Given the description of an element on the screen output the (x, y) to click on. 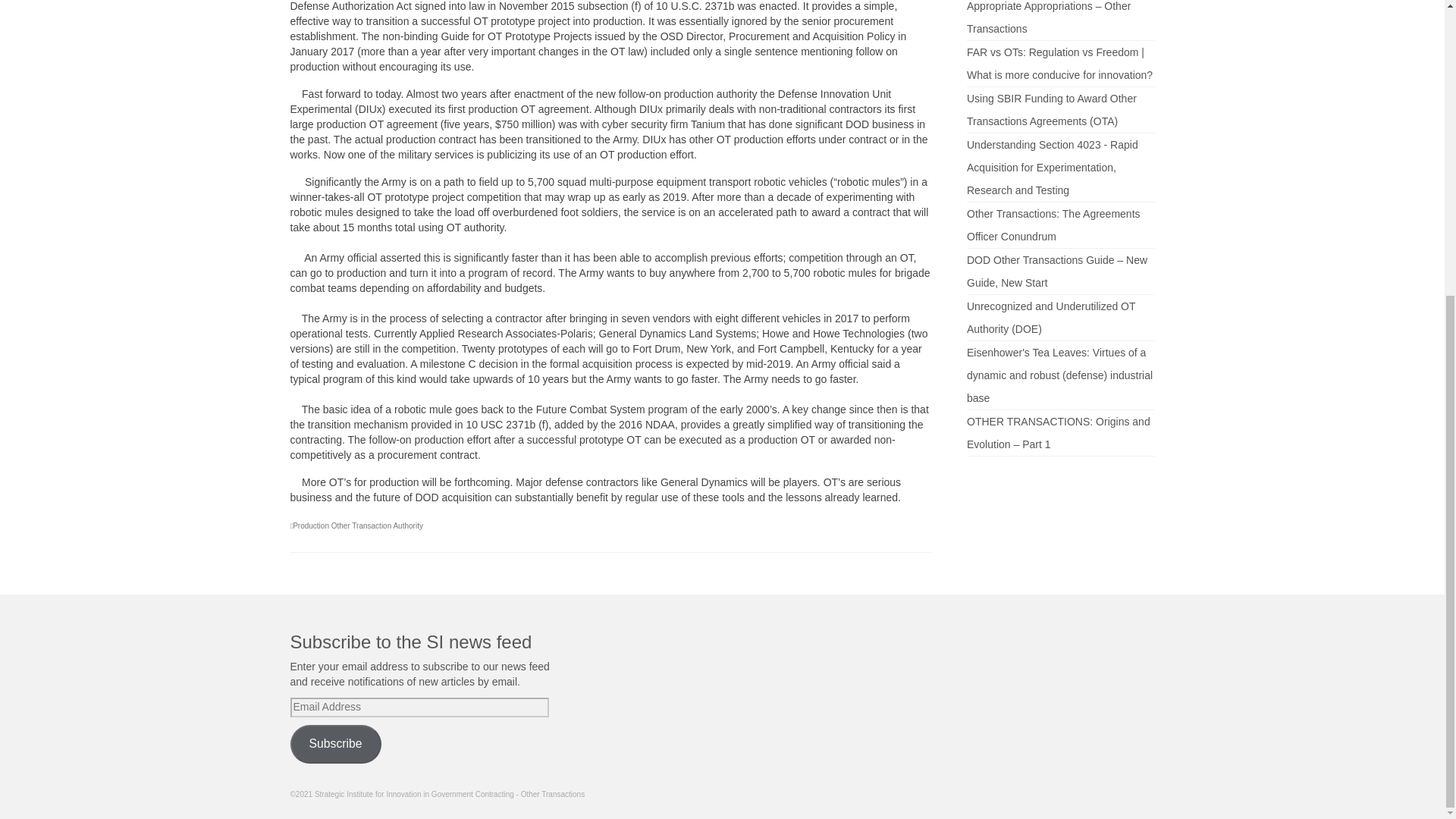
Production Other Transaction Authority (357, 525)
Other Transactions: The Agreements Officer Conundrum (1053, 225)
